Given the description of an element on the screen output the (x, y) to click on. 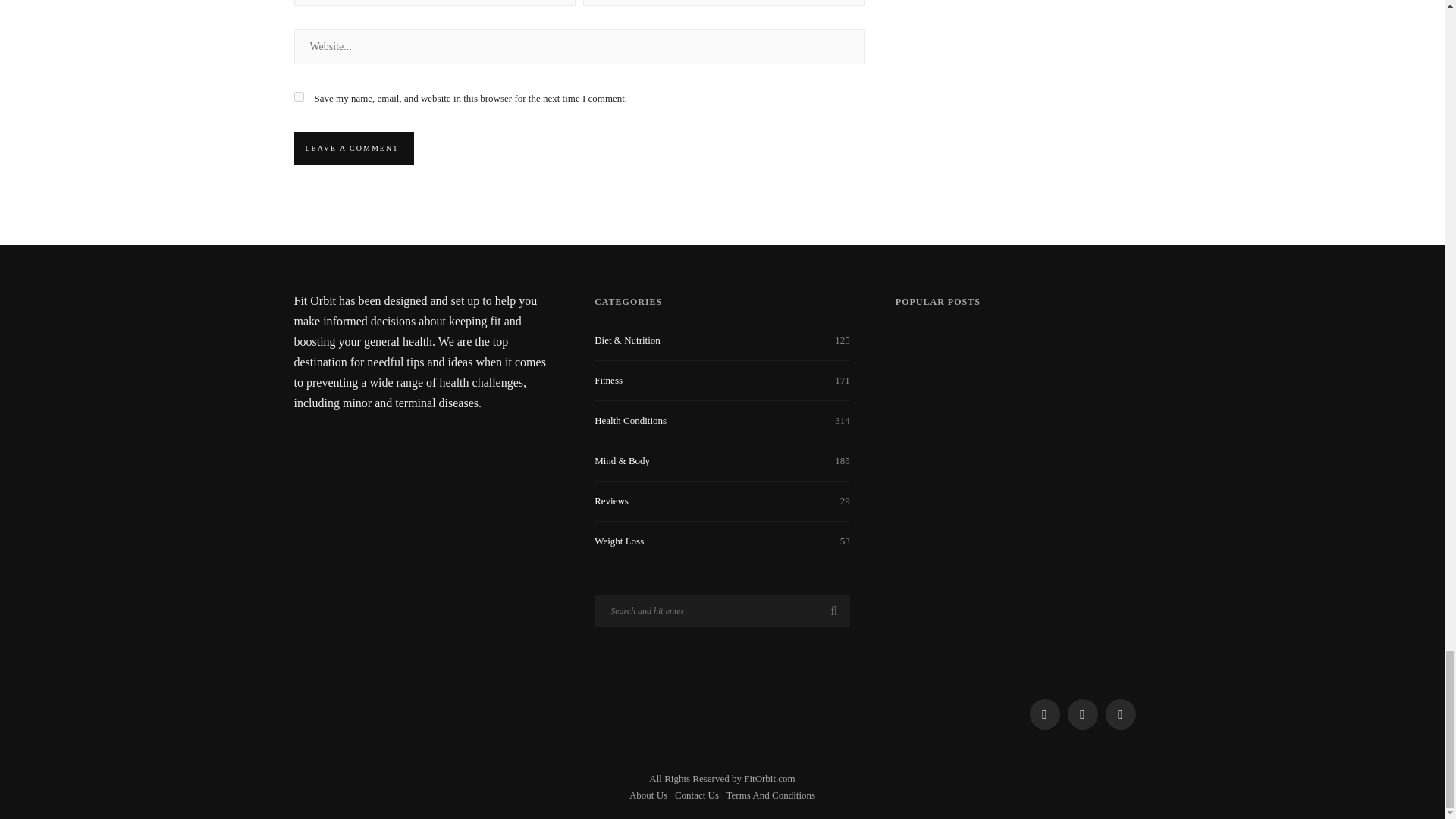
yes (299, 96)
Leave a comment (351, 148)
